Given the description of an element on the screen output the (x, y) to click on. 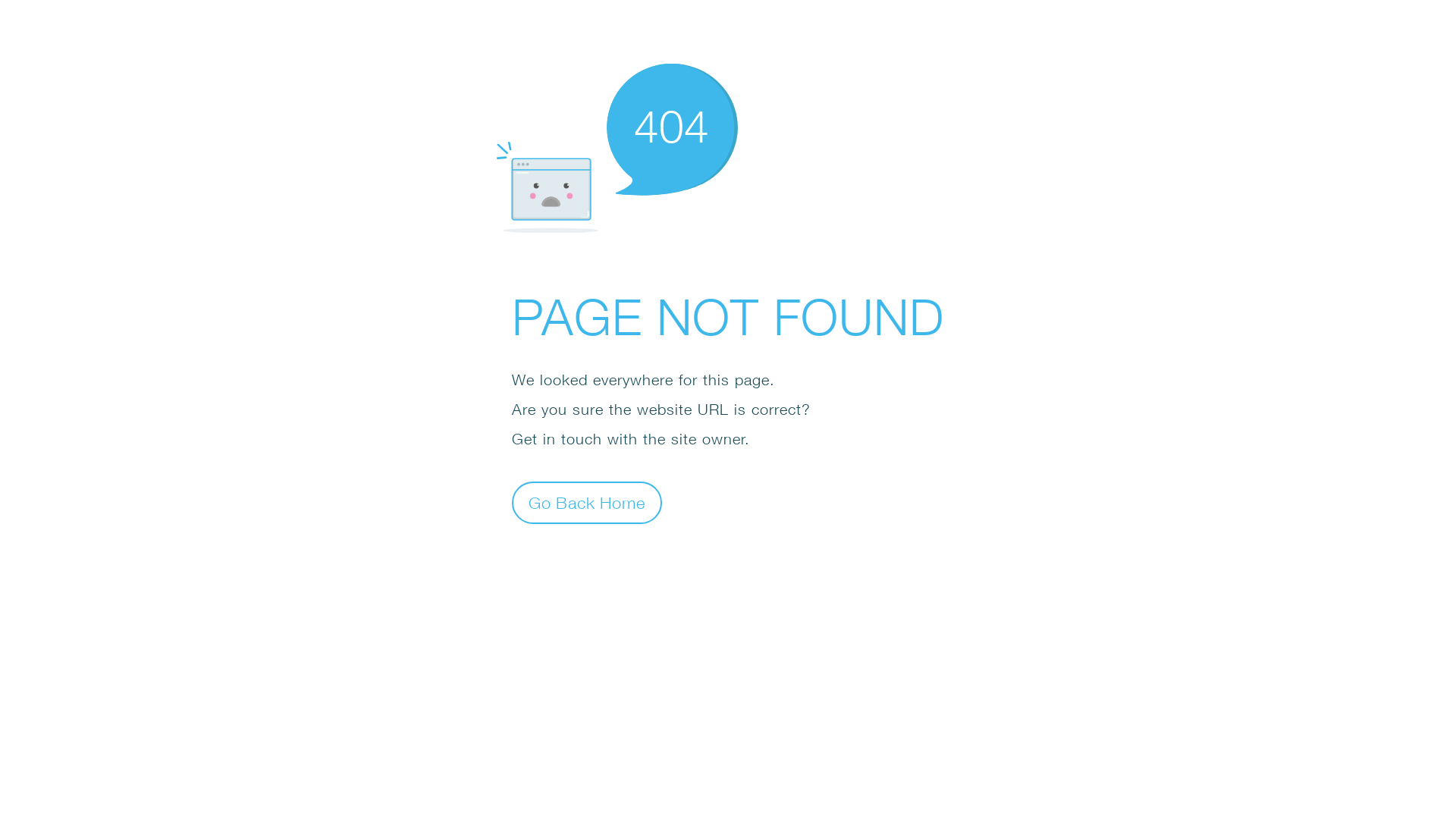
Go Back Home Element type: text (586, 502)
